Given the description of an element on the screen output the (x, y) to click on. 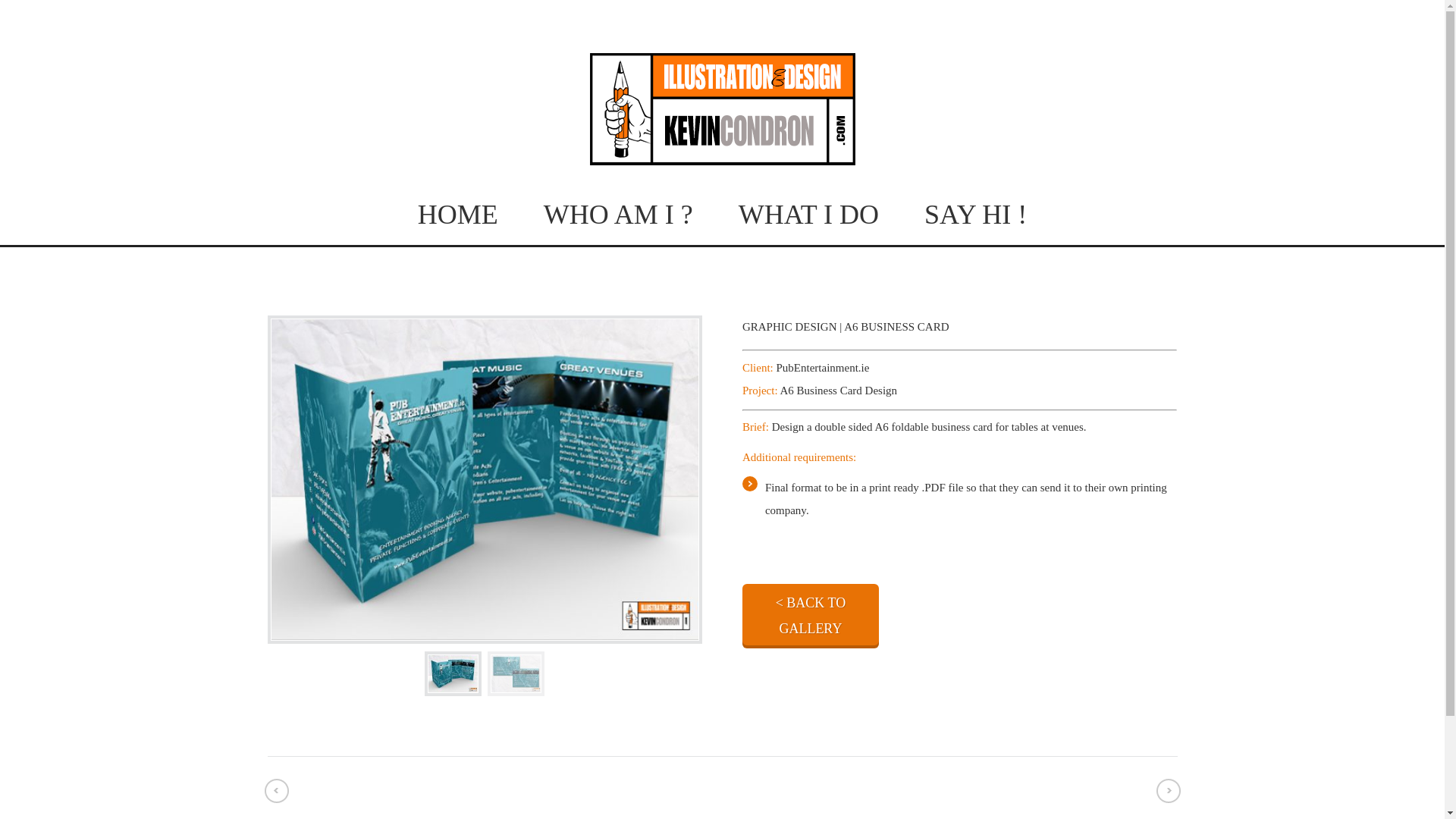
WHAT I DO (808, 214)
HOME (457, 214)
PubEntertainment.ie A6 Card (453, 673)
SAY HI ! (975, 214)
WHO AM I ? (617, 214)
Layout (515, 673)
